Given the description of an element on the screen output the (x, y) to click on. 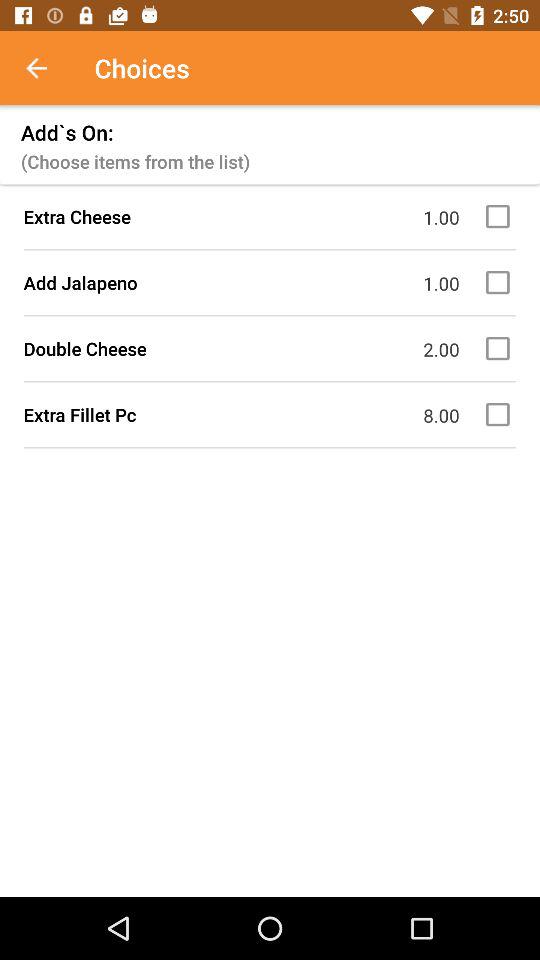
add jalapeno (501, 282)
